Given the description of an element on the screen output the (x, y) to click on. 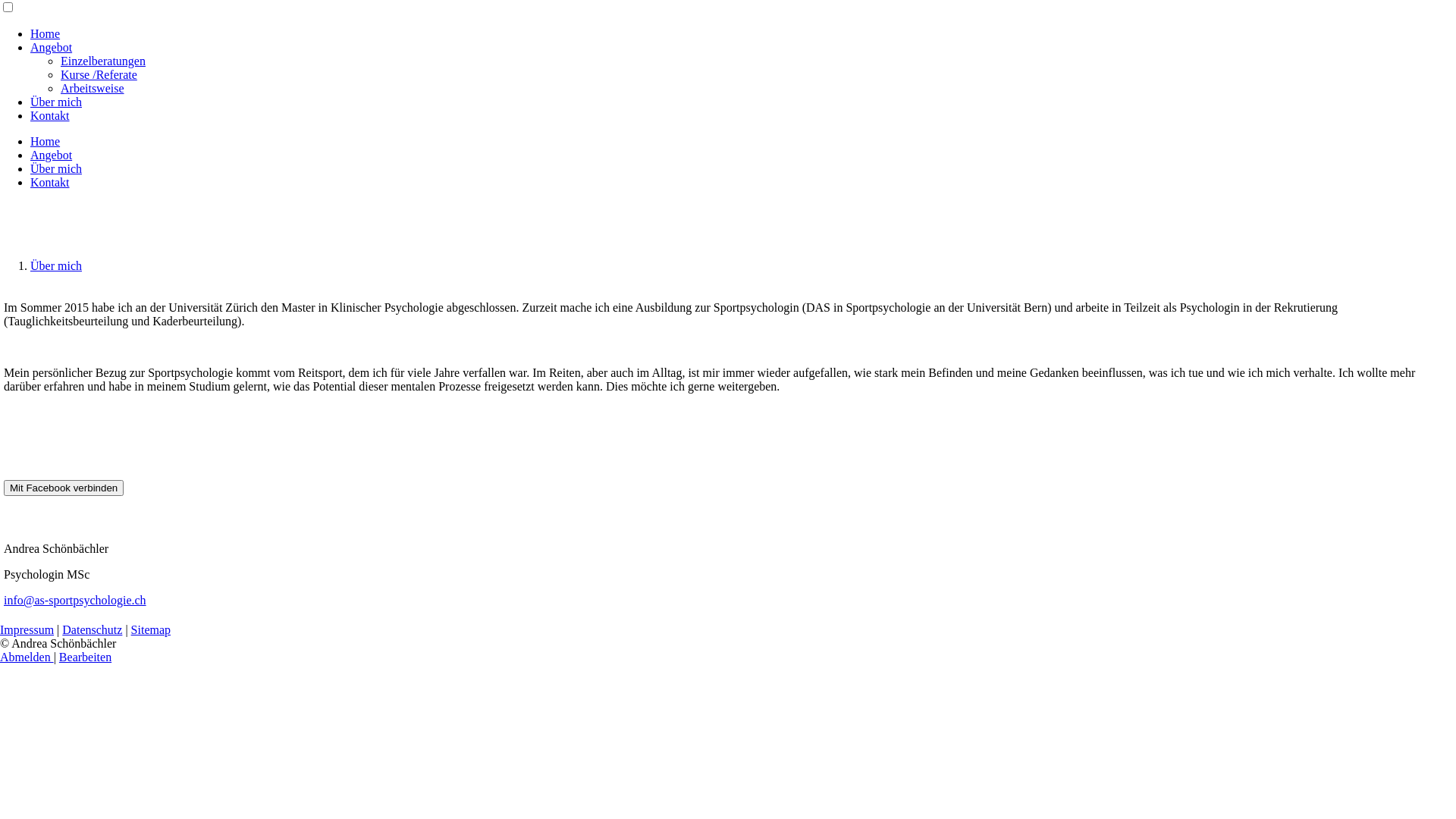
Kontakt Element type: text (49, 181)
Kurse /Referate Element type: text (98, 74)
Datenschutz Element type: text (92, 629)
Home Element type: text (44, 33)
Impressum Element type: text (26, 629)
info@as-sportpsychologie.ch Element type: text (74, 599)
Home Element type: text (44, 140)
Angebot Element type: text (51, 46)
Einzelberatungen Element type: text (102, 60)
Abmelden Element type: text (26, 656)
Arbeitsweise Element type: text (92, 87)
Mit Facebook verbinden Element type: text (63, 487)
Sitemap Element type: text (150, 629)
Kontakt Element type: text (49, 115)
Bearbeiten Element type: text (85, 656)
Angebot Element type: text (51, 154)
